Given the description of an element on the screen output the (x, y) to click on. 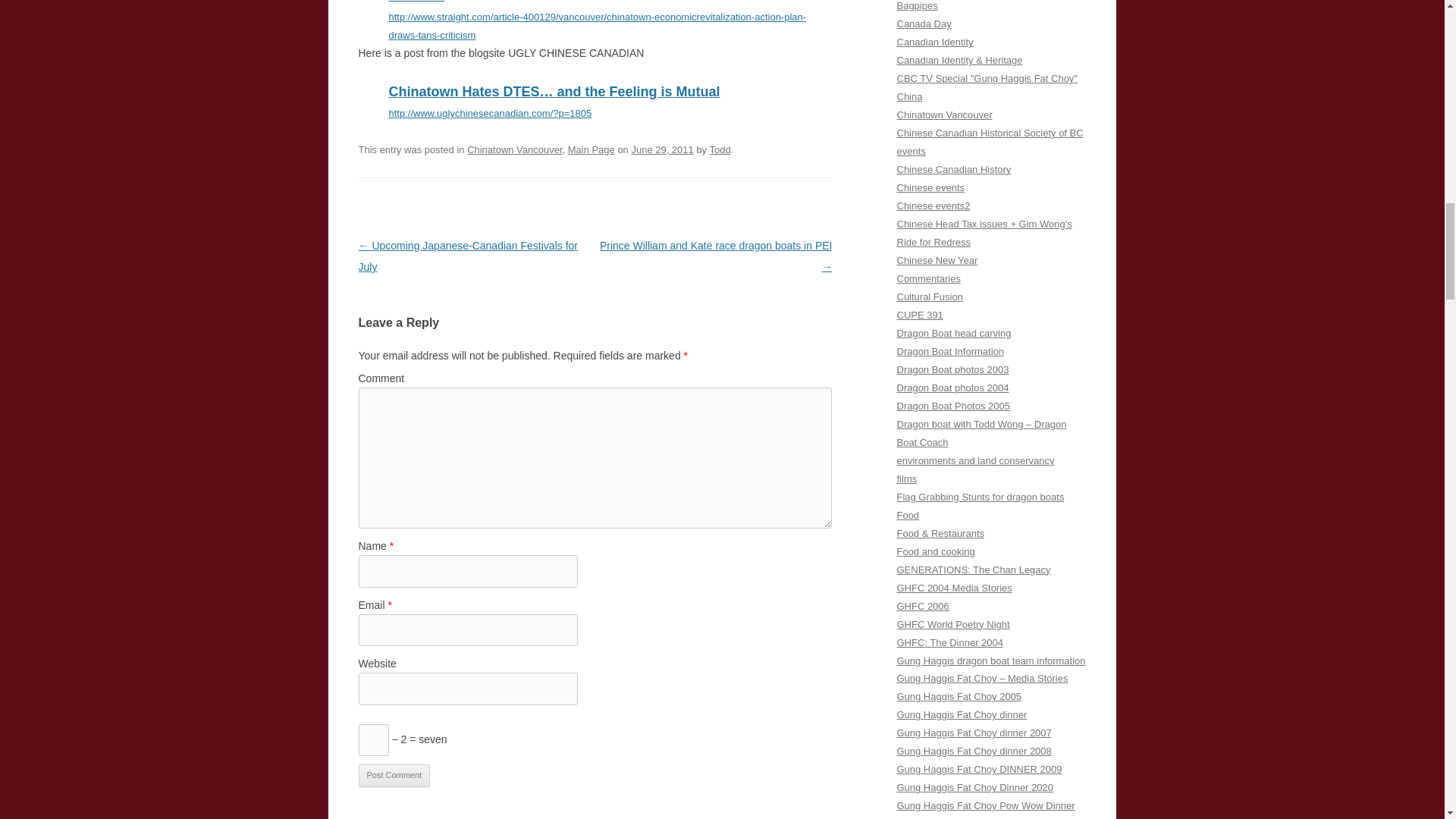
Chinatown Vancouver (514, 149)
View all posts by Todd (719, 149)
June 29, 2011 (661, 149)
Todd (719, 149)
6:26 AM (661, 149)
Post Comment (393, 775)
Post Comment (393, 775)
Main Page (590, 149)
